Given the description of an element on the screen output the (x, y) to click on. 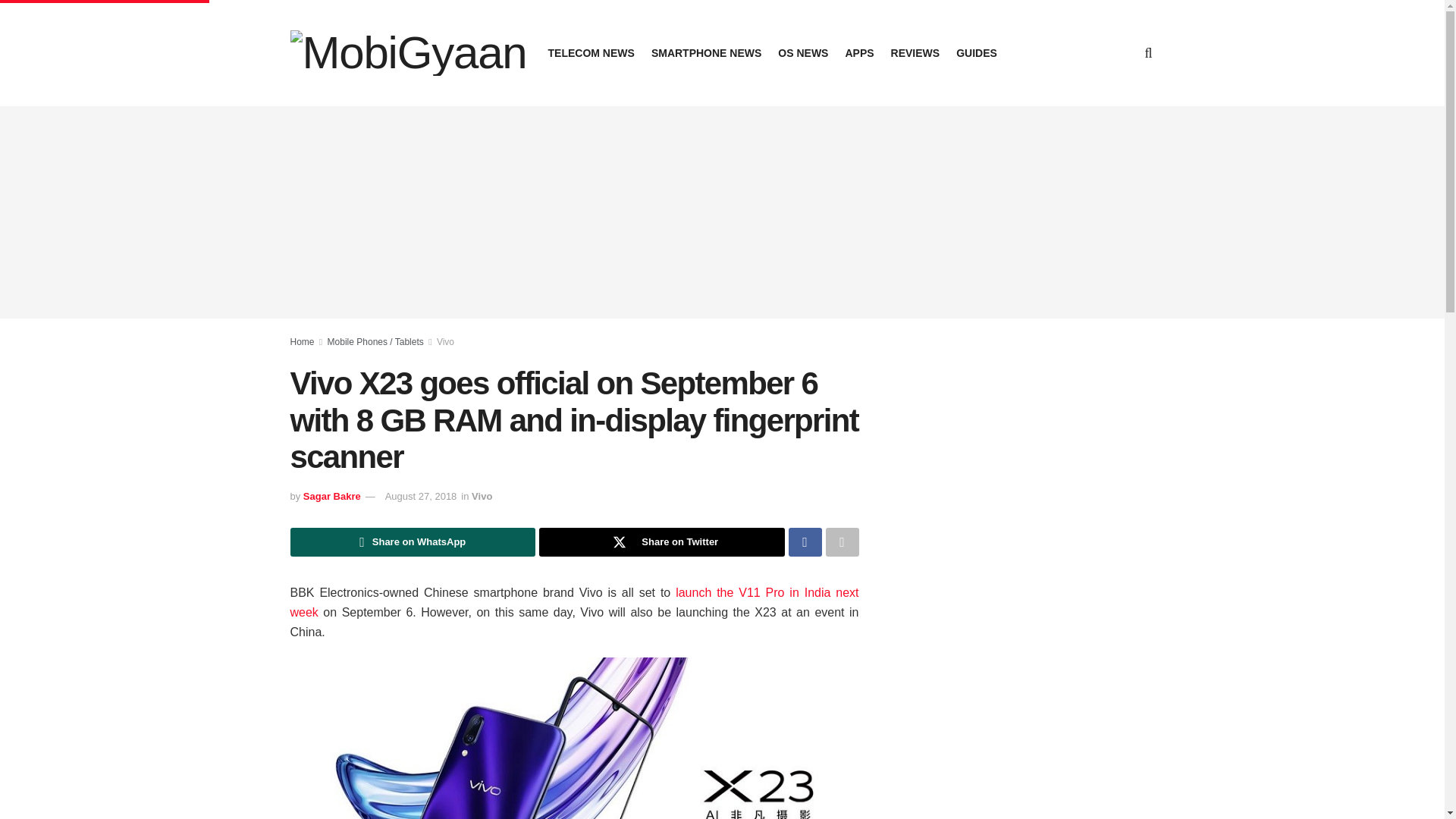
APPS (858, 52)
OS NEWS (802, 52)
Vivo (481, 496)
TELECOM NEWS (591, 52)
August 27, 2018 (421, 496)
Sagar Bakre (331, 496)
Home (301, 341)
Share on Twitter (661, 541)
GUIDES (976, 52)
SMARTPHONE NEWS (705, 52)
REVIEWS (915, 52)
Vivo (445, 341)
launch the V11 Pro in India next week (574, 602)
